Given the description of an element on the screen output the (x, y) to click on. 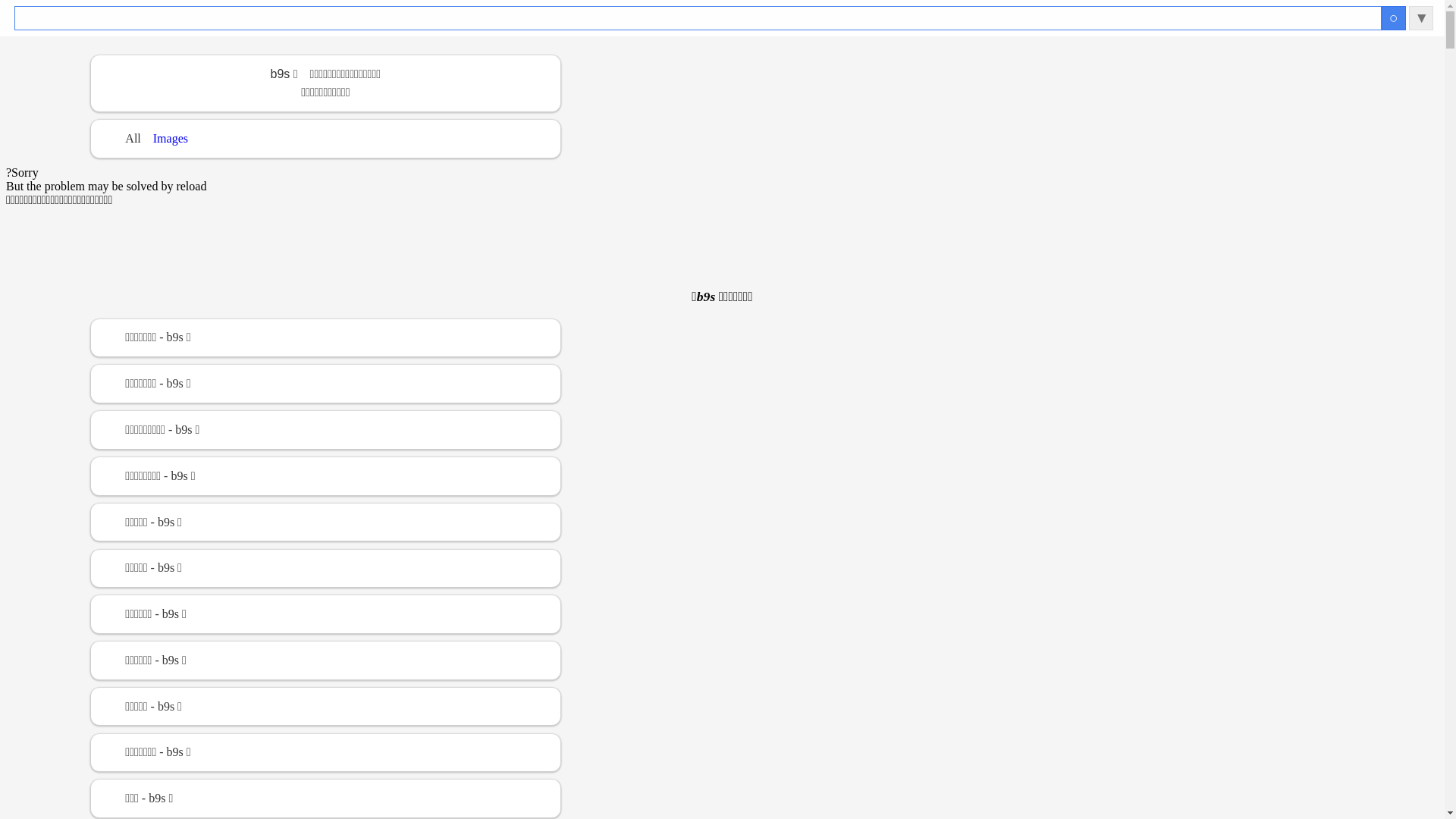
Images Element type: text (170, 137)
